Given the description of an element on the screen output the (x, y) to click on. 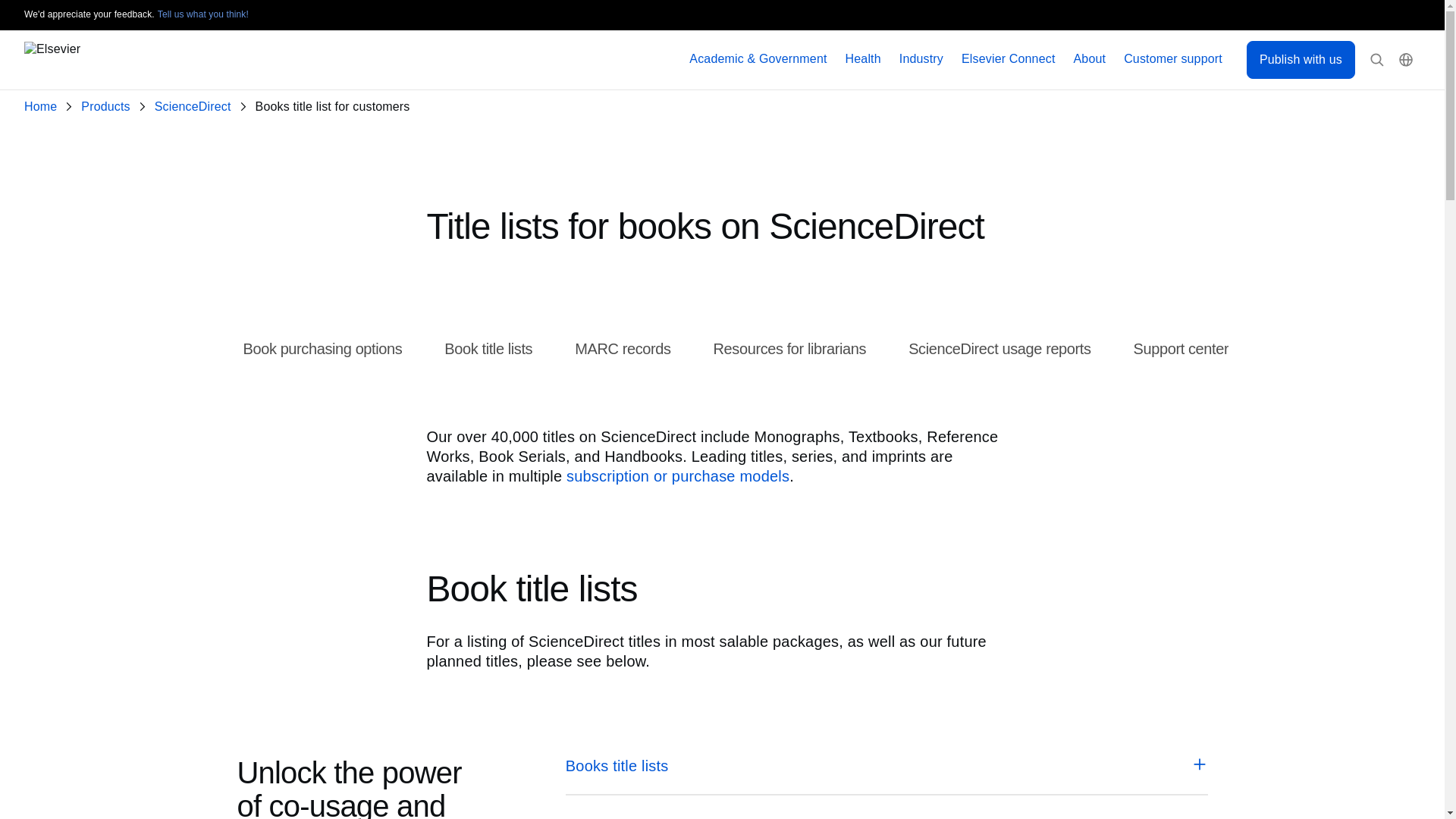
Open Search (1376, 59)
Customer support (1173, 59)
Resources for librarians (789, 348)
subscription or purchase models (677, 475)
Books title lists (887, 765)
Health (862, 59)
Book purchasing options (322, 348)
Book title lists (488, 348)
About (1090, 59)
ScienceDirect usage reports (999, 348)
MARC records (622, 348)
ScienceDirect (195, 107)
Location Selector (1406, 59)
Industry (921, 59)
Support center (1181, 348)
